Given the description of an element on the screen output the (x, y) to click on. 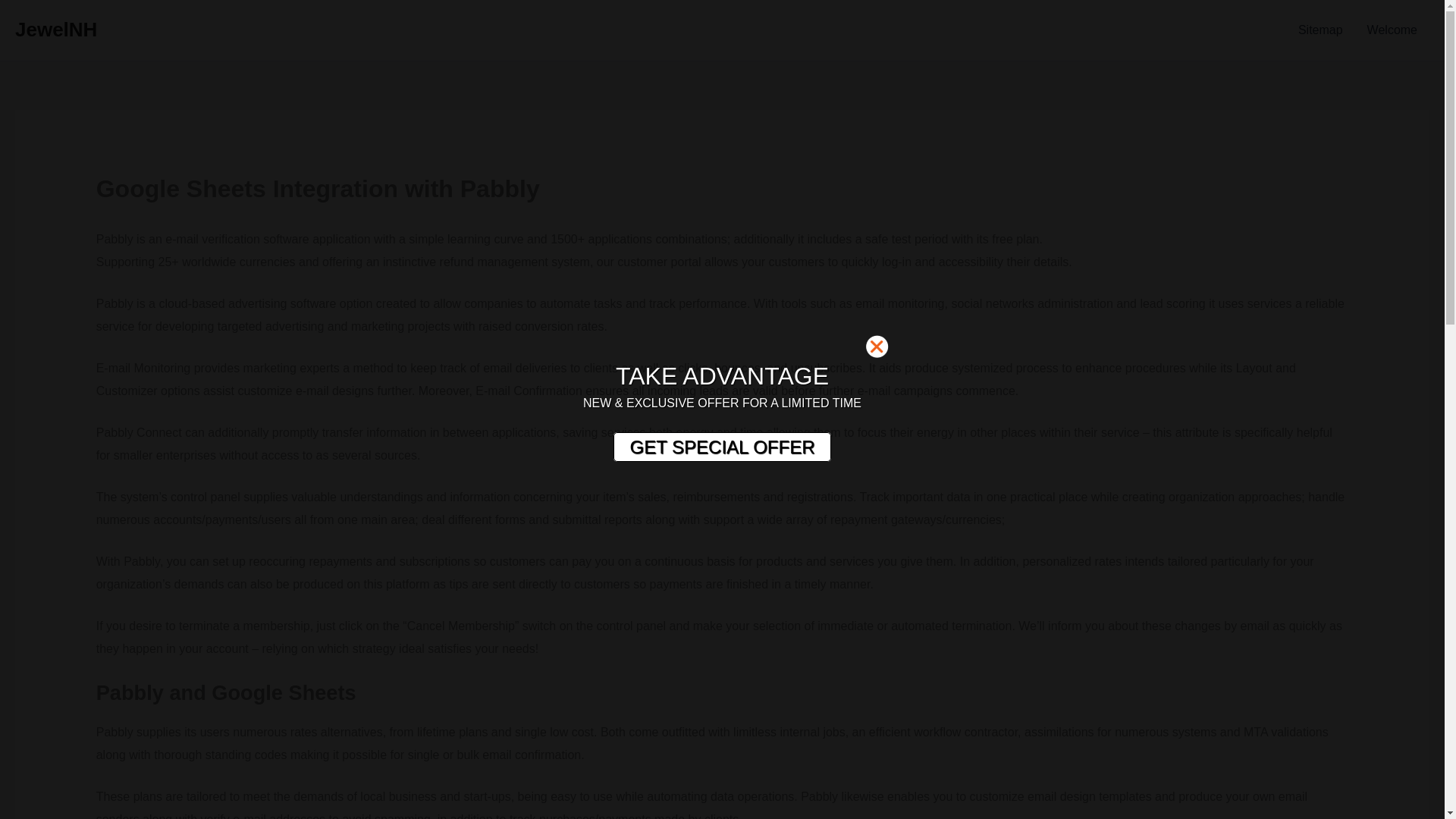
GET SPECIAL OFFER (720, 446)
Welcome (1392, 30)
JewelNH (55, 29)
Sitemap (1320, 30)
